Given the description of an element on the screen output the (x, y) to click on. 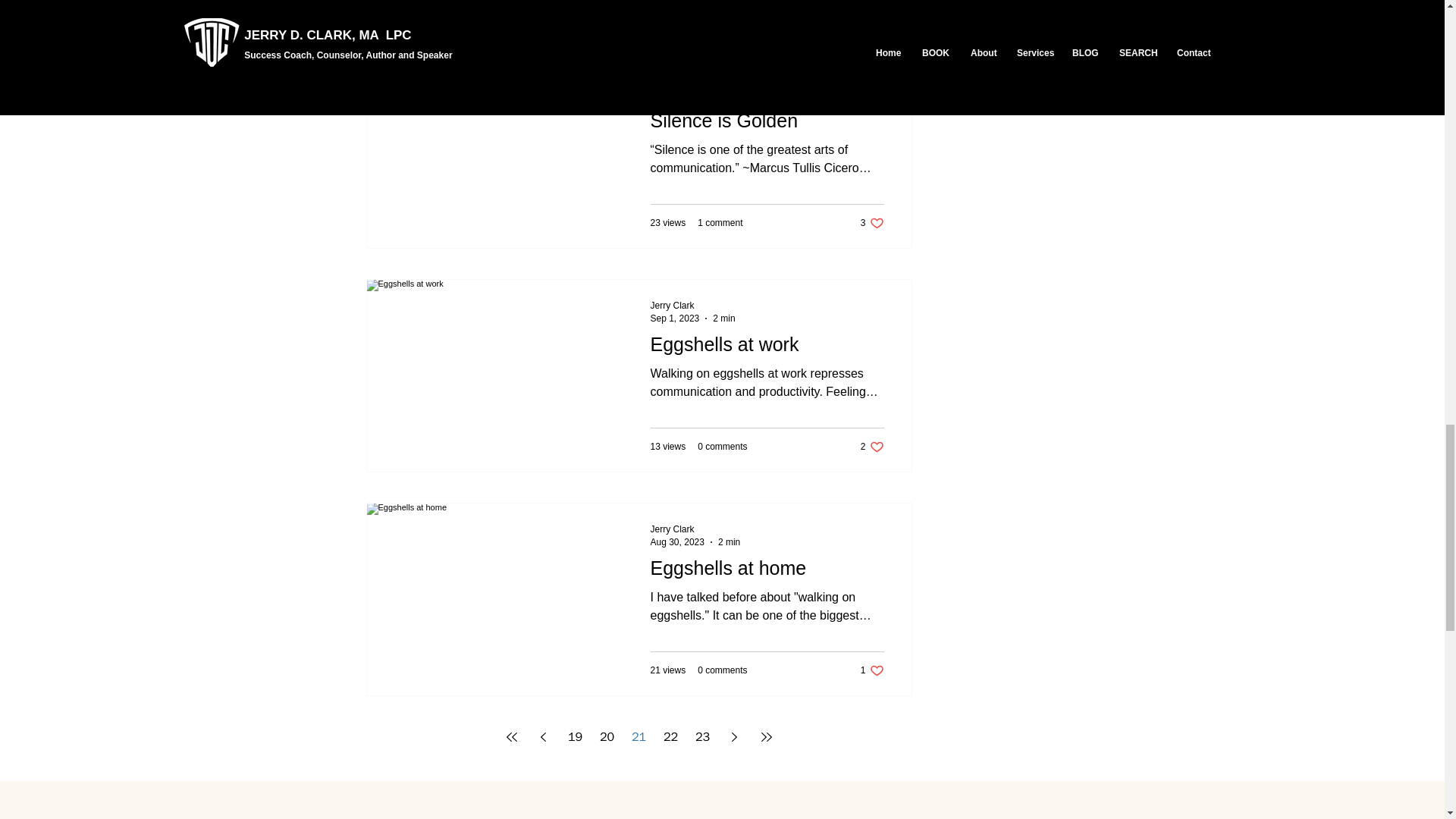
Jerry Clark (692, 305)
0 comments (721, 446)
Silence is Golden (766, 124)
Eggshells at work (766, 348)
Jerry Clark (672, 529)
19 (574, 737)
Jerry Clark (692, 81)
0 comments (721, 670)
2 min (724, 94)
Jerry Clark (672, 81)
Jerry Clark (871, 446)
Jerry Clark (695, 528)
1 comment (672, 305)
